Given the description of an element on the screen output the (x, y) to click on. 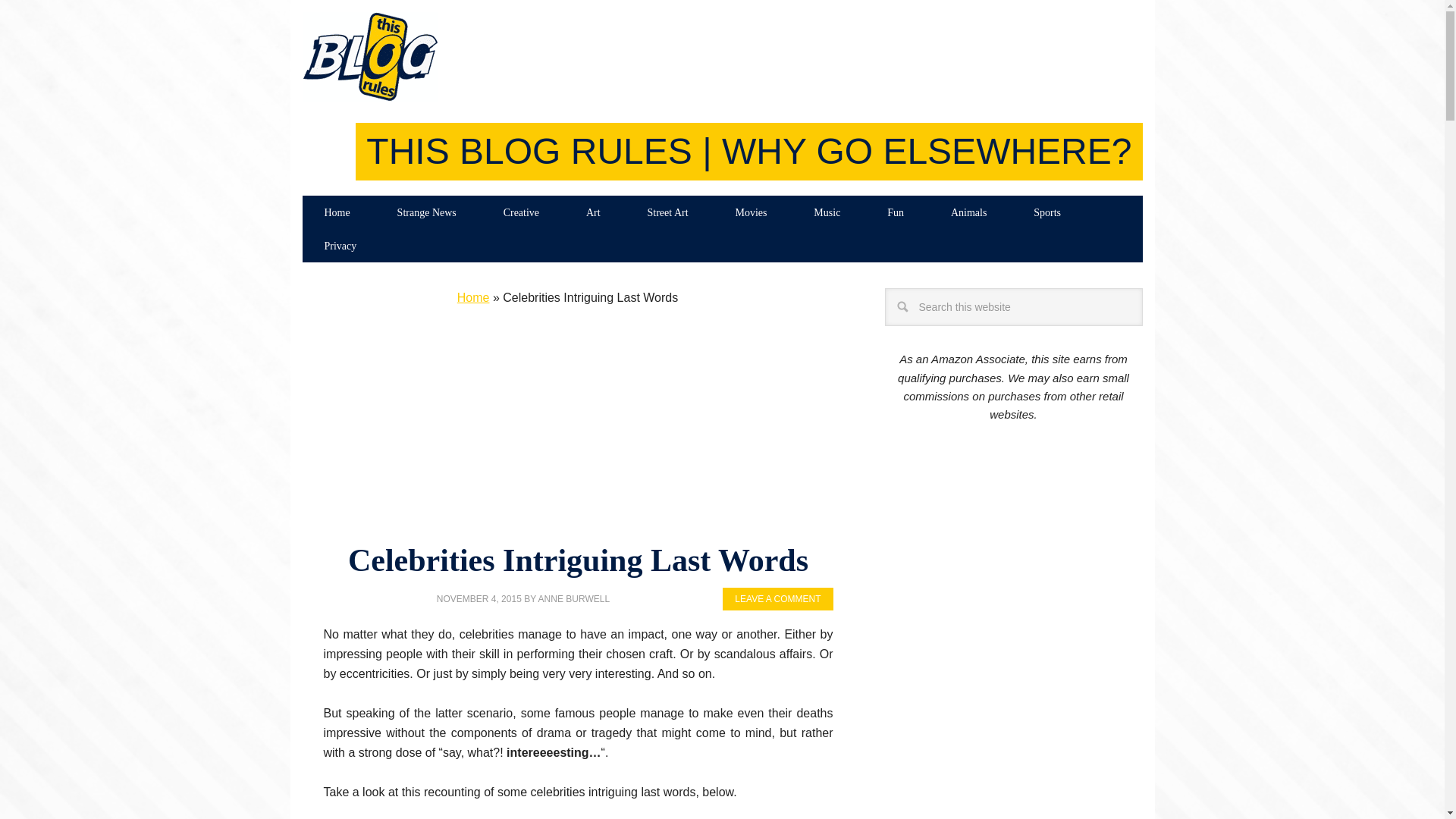
Strange News (427, 212)
Fun (895, 212)
Creative (520, 212)
Street Art (668, 212)
Privacy (339, 245)
Animals (968, 212)
Advertisement (566, 428)
LEAVE A COMMENT (777, 599)
Home (473, 297)
